Given the description of an element on the screen output the (x, y) to click on. 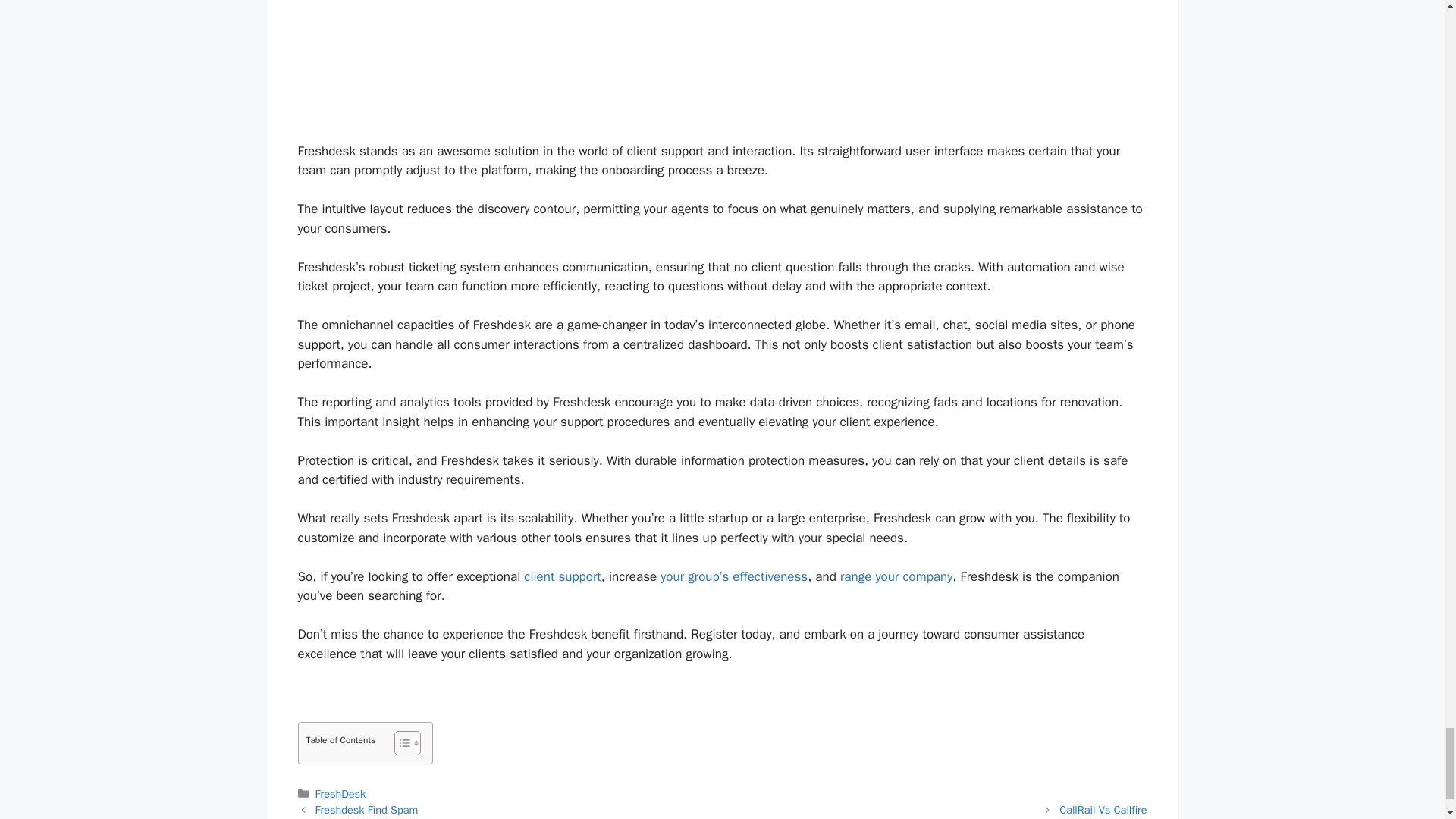
FreshDesk (340, 793)
client support (562, 576)
range your company (896, 576)
CallRail Vs Callfire (1103, 809)
Freshdesk Find Spam (367, 809)
